Given the description of an element on the screen output the (x, y) to click on. 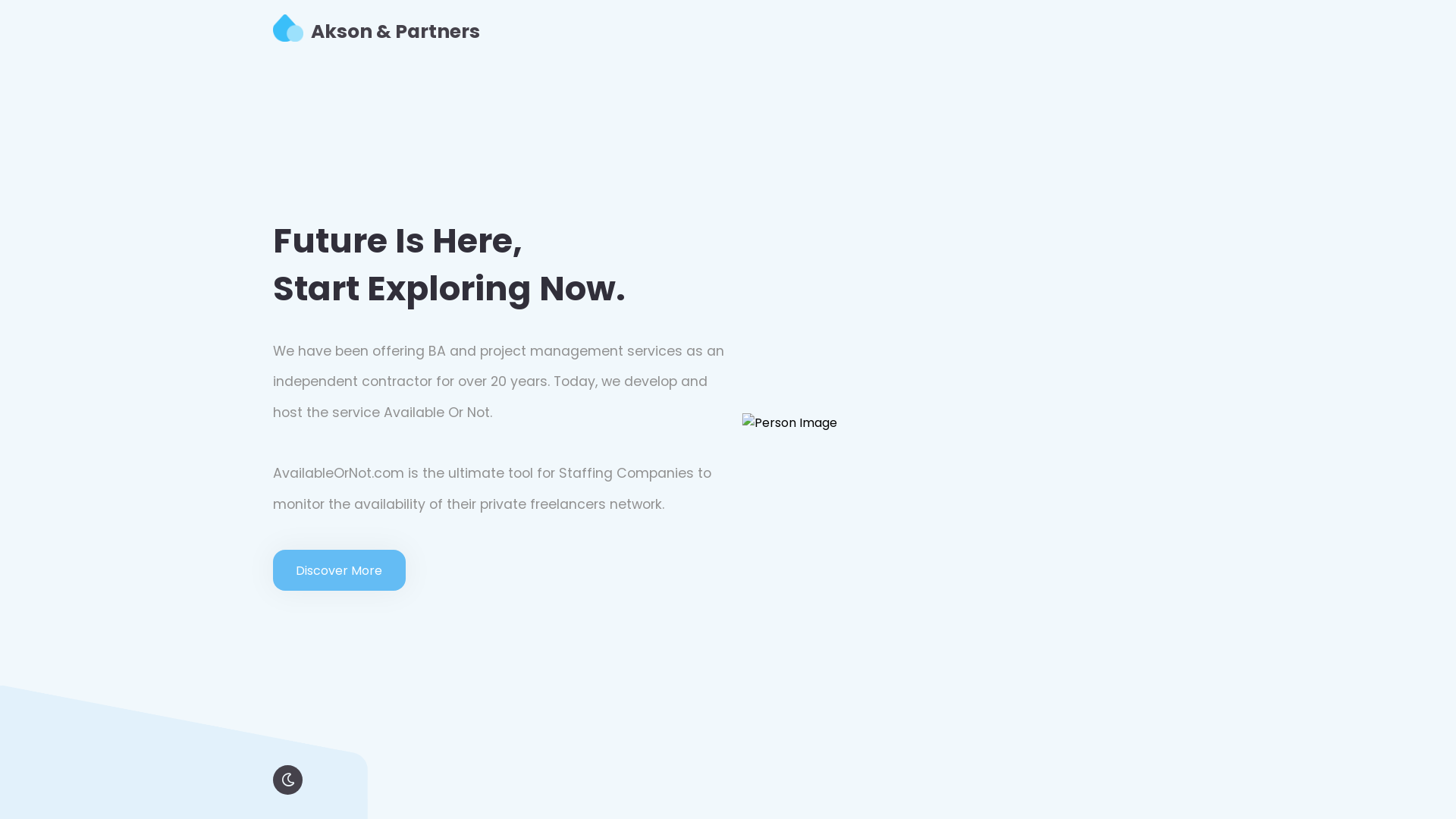
Discover More Element type: text (339, 569)
